Given the description of an element on the screen output the (x, y) to click on. 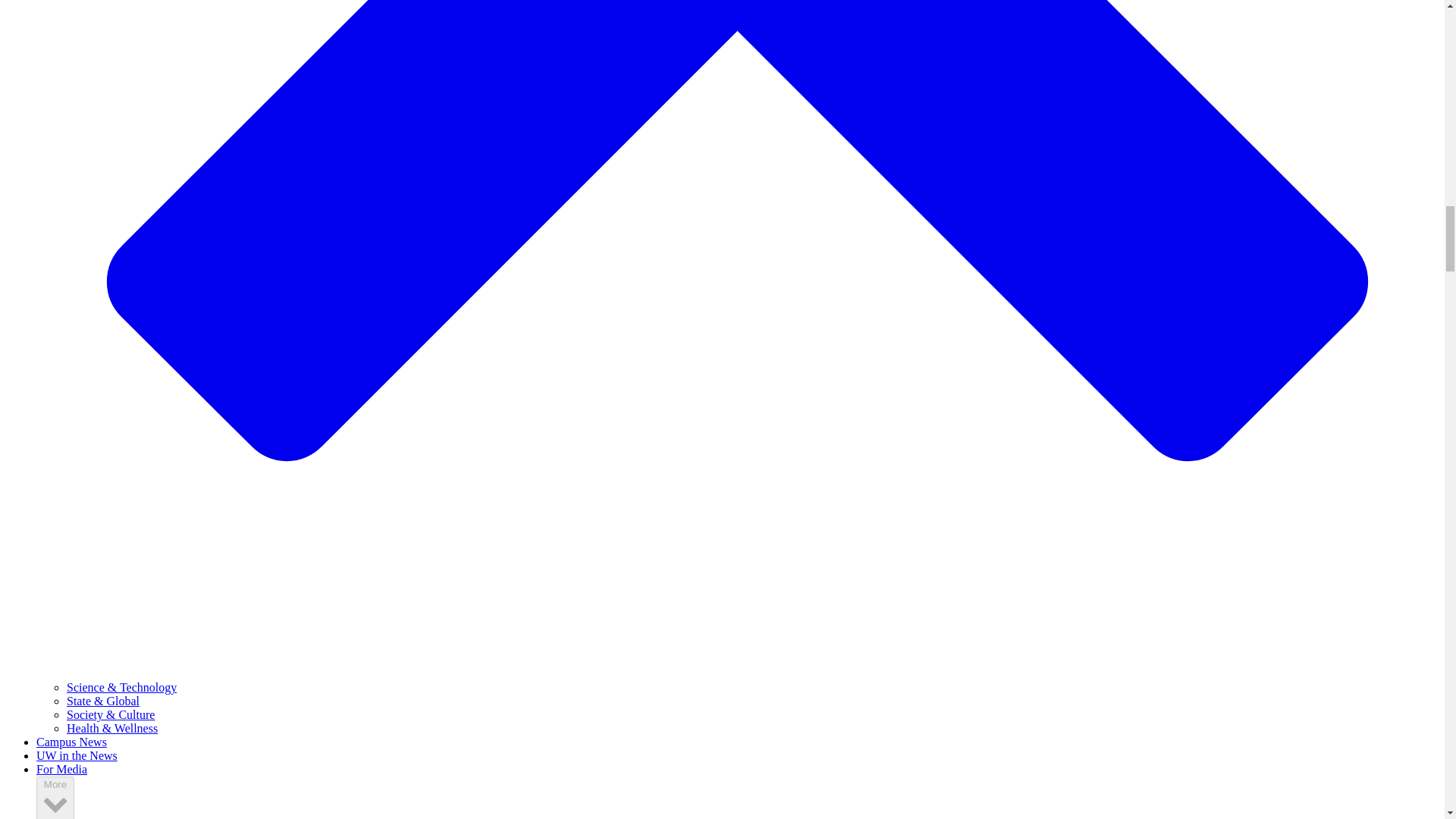
More ExpandCollapse (55, 797)
Campus News (71, 741)
Expand (55, 802)
UW in the News (76, 755)
For Media (61, 768)
